Given the description of an element on the screen output the (x, y) to click on. 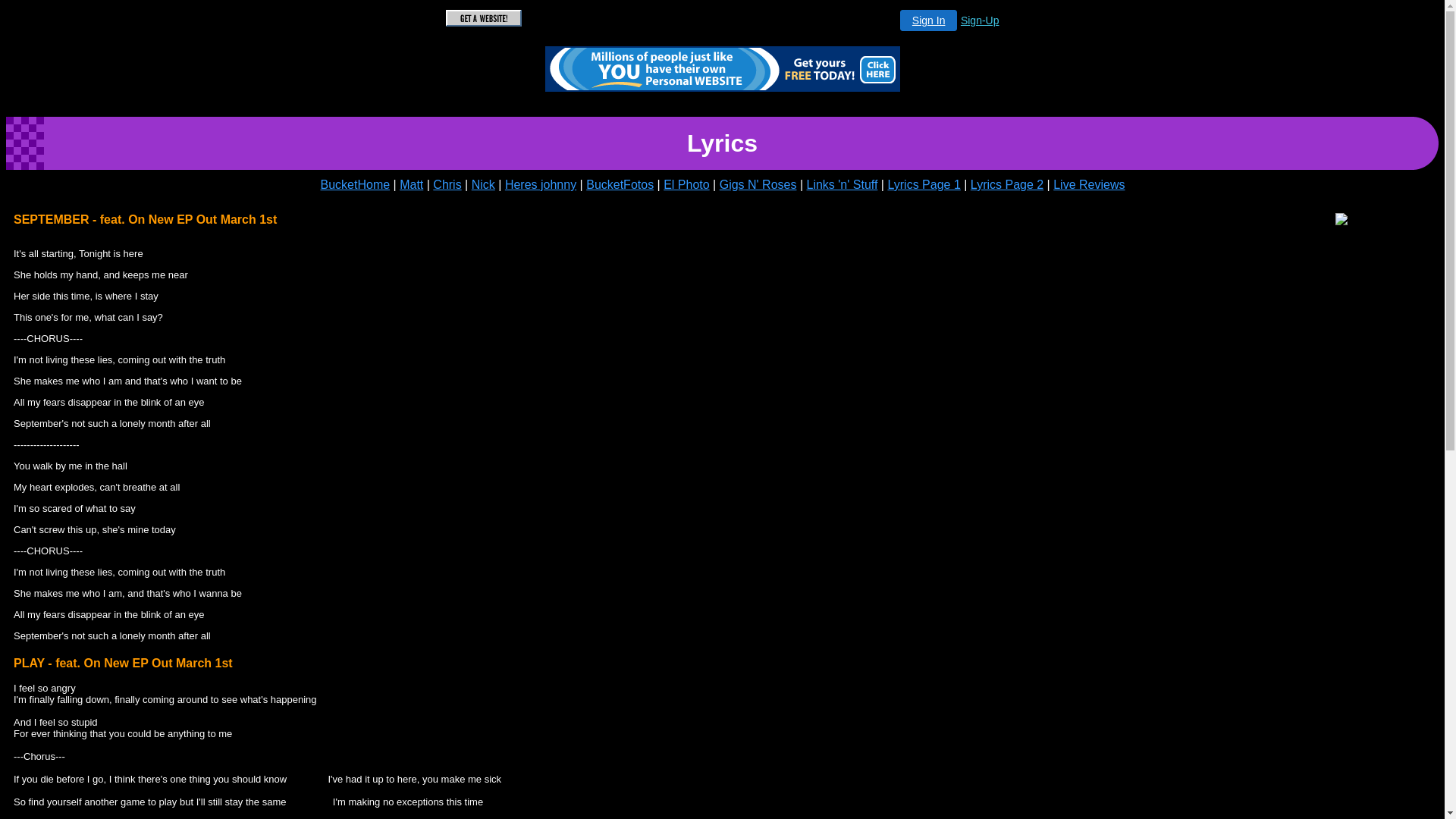
Sign In Element type: text (928, 20)
Live Reviews Element type: text (1088, 184)
Chris Element type: text (447, 184)
Nick Element type: text (483, 184)
Lyrics Page 1 Element type: text (923, 184)
BucketFotos Element type: text (619, 184)
Lyrics Page 2 Element type: text (1006, 184)
Heres johnny Element type: text (540, 184)
Gigs N' Roses Element type: text (758, 184)
Matt Element type: text (411, 184)
El Photo Element type: text (686, 184)
BucketHome Element type: text (355, 184)
Sign-Up Element type: text (979, 20)
Links 'n' Stuff Element type: text (842, 184)
